Given the description of an element on the screen output the (x, y) to click on. 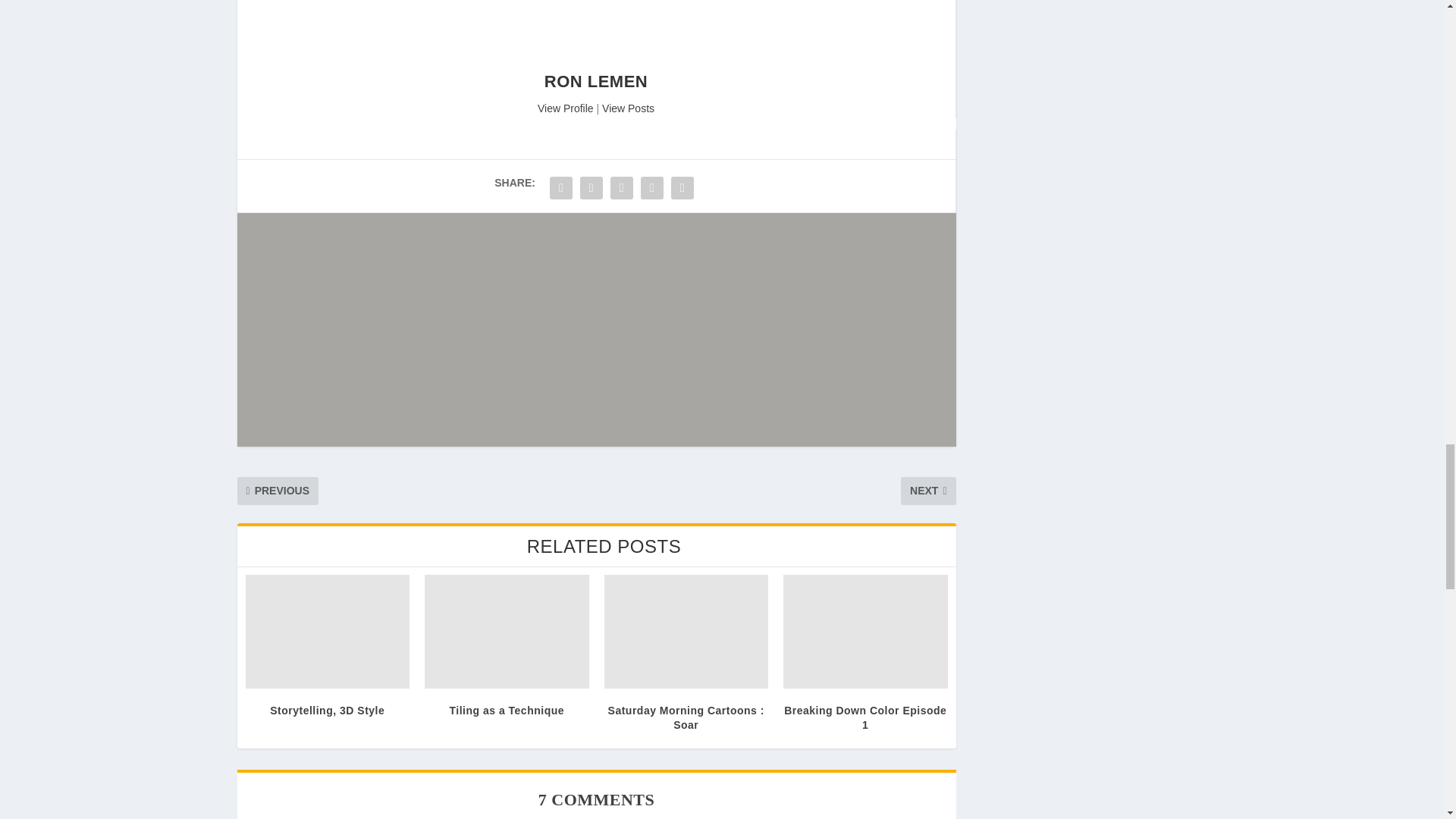
About the author (565, 108)
Storytelling, 3D Style (328, 631)
About the author (596, 63)
Breaking Down Color Episode 1 (865, 631)
View all posts by Ron Lemen (595, 81)
Tiling as a Technique (507, 631)
Saturday Morning Cartoons : Soar (686, 631)
